Given the description of an element on the screen output the (x, y) to click on. 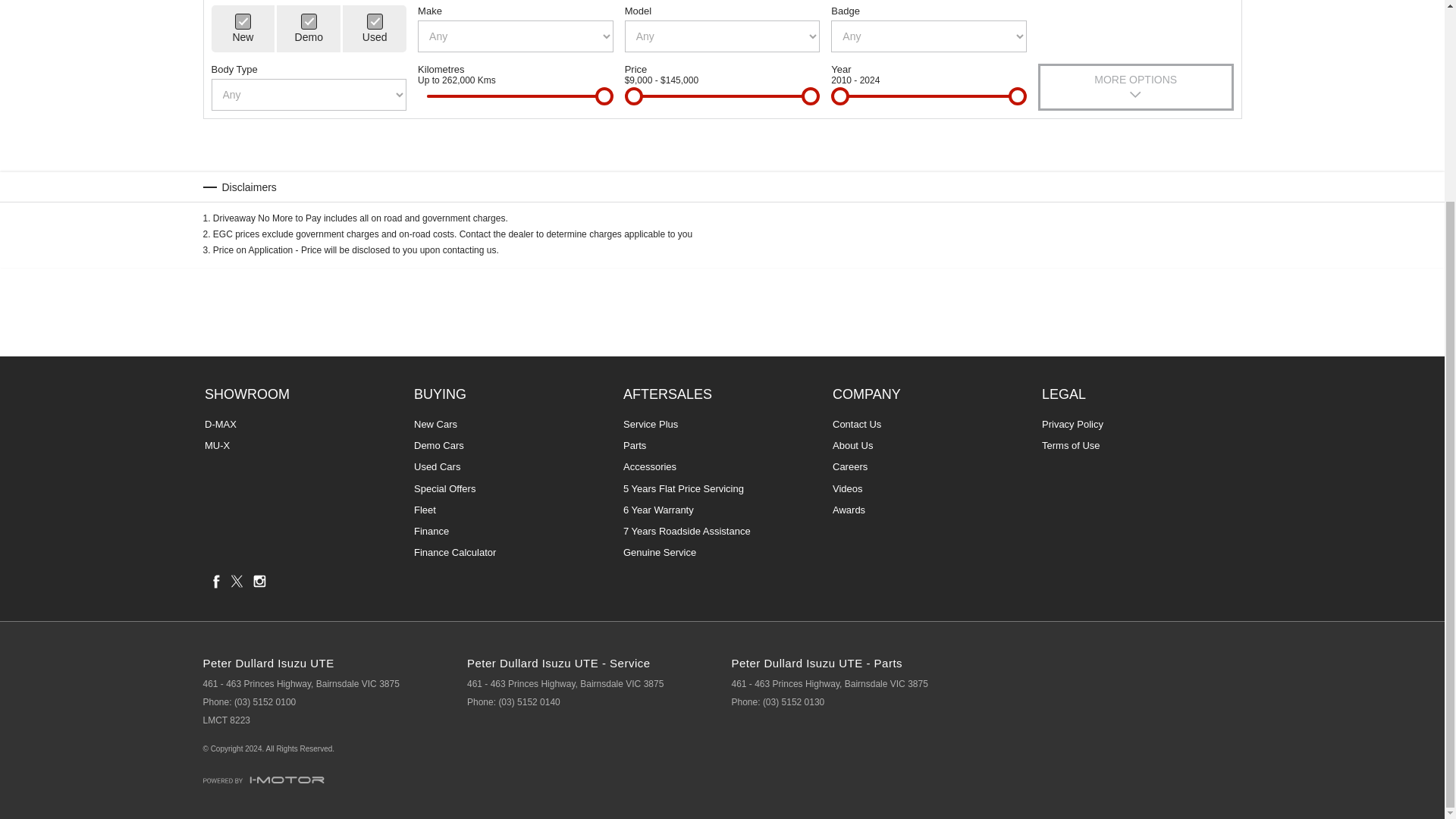
New (242, 21)
Used (374, 21)
Demo (309, 21)
